Given the description of an element on the screen output the (x, y) to click on. 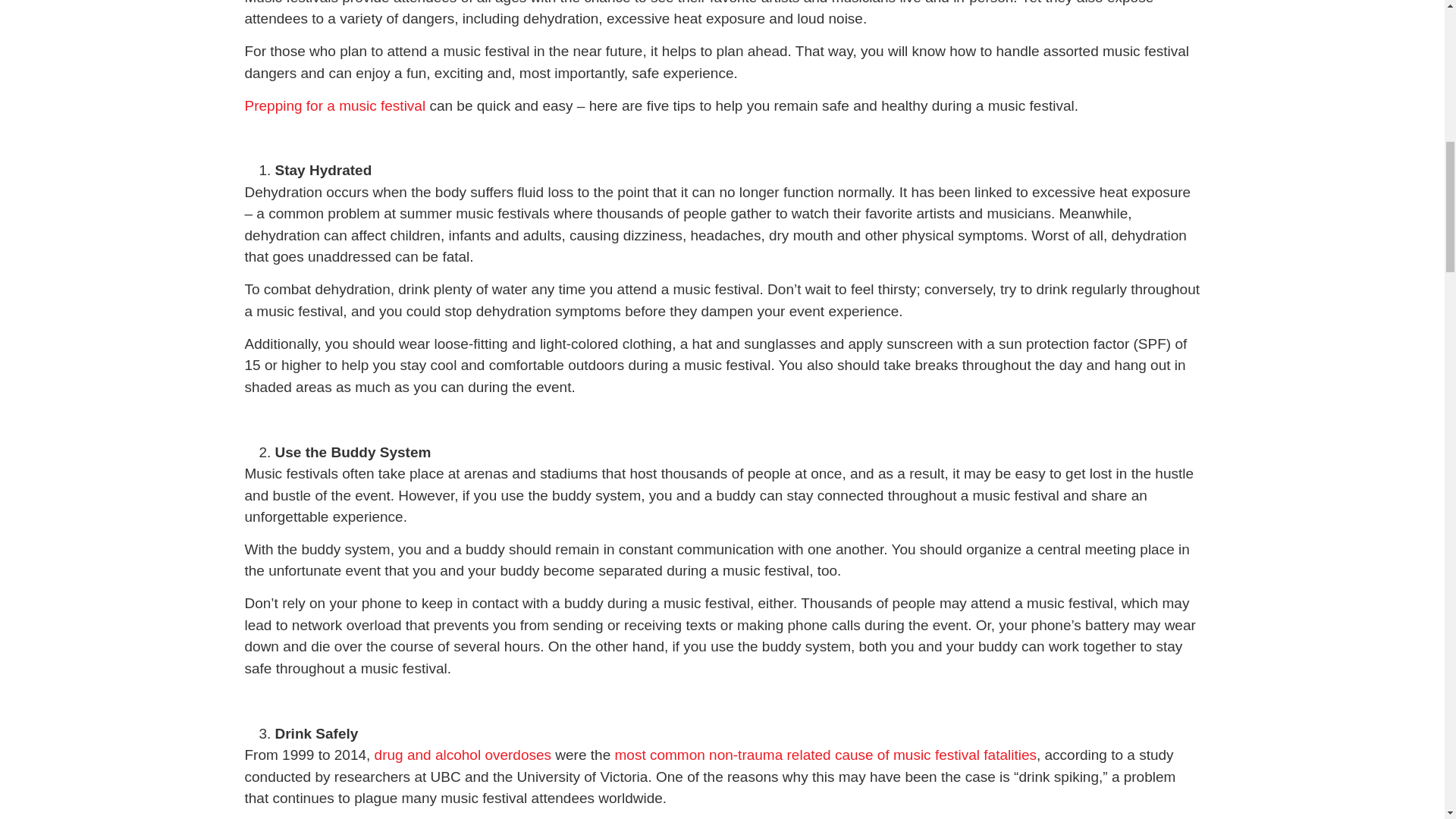
drug and alcohol overdoses (462, 754)
Prepping for a music festival (334, 105)
